Given the description of an element on the screen output the (x, y) to click on. 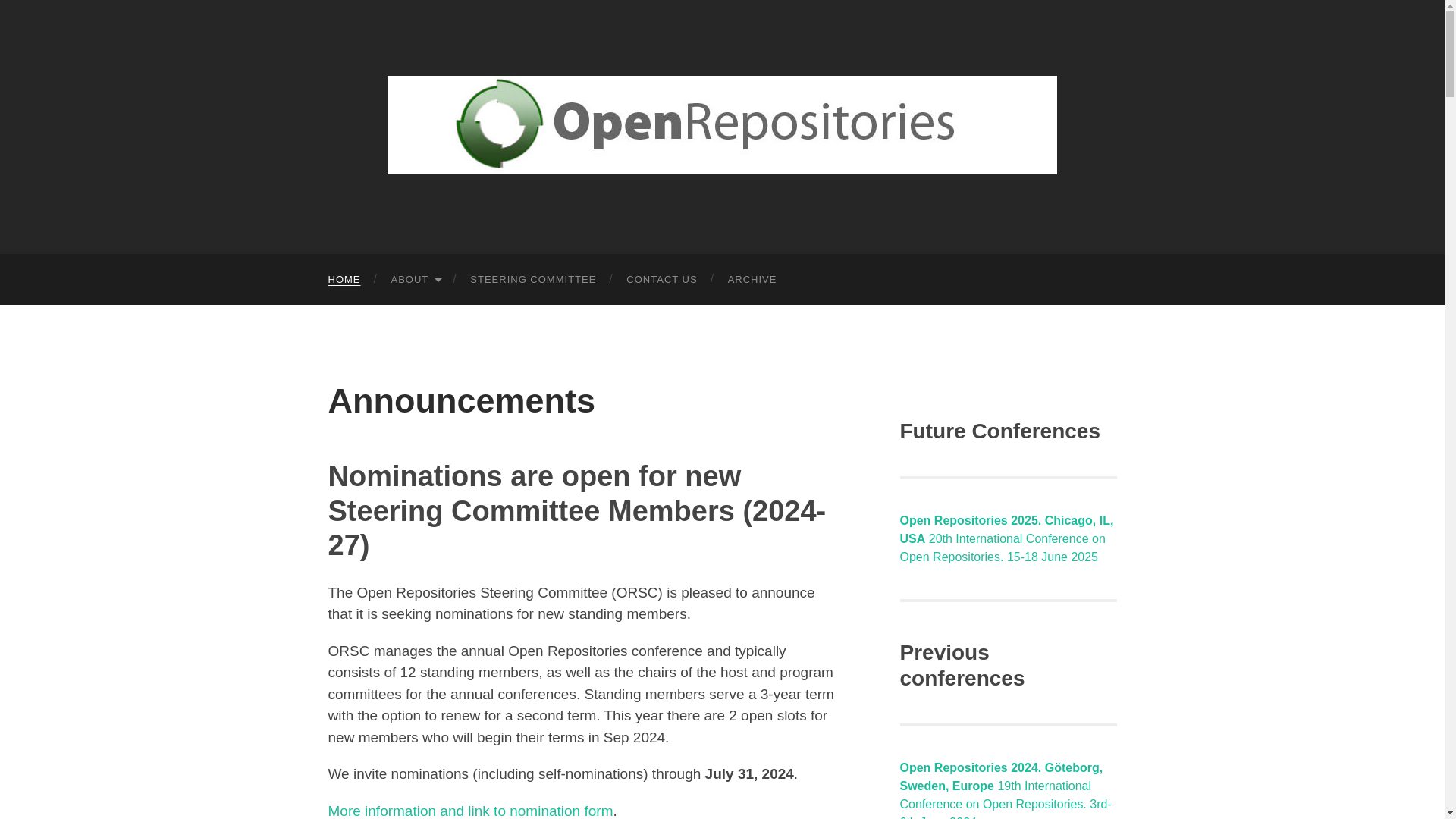
Open Repositories (722, 125)
STEERING COMMITTEE (532, 278)
More information and link to nomination form (469, 811)
CONTACT US (661, 278)
HOME (344, 278)
ABOUT (415, 278)
ARCHIVE (752, 278)
